Given the description of an element on the screen output the (x, y) to click on. 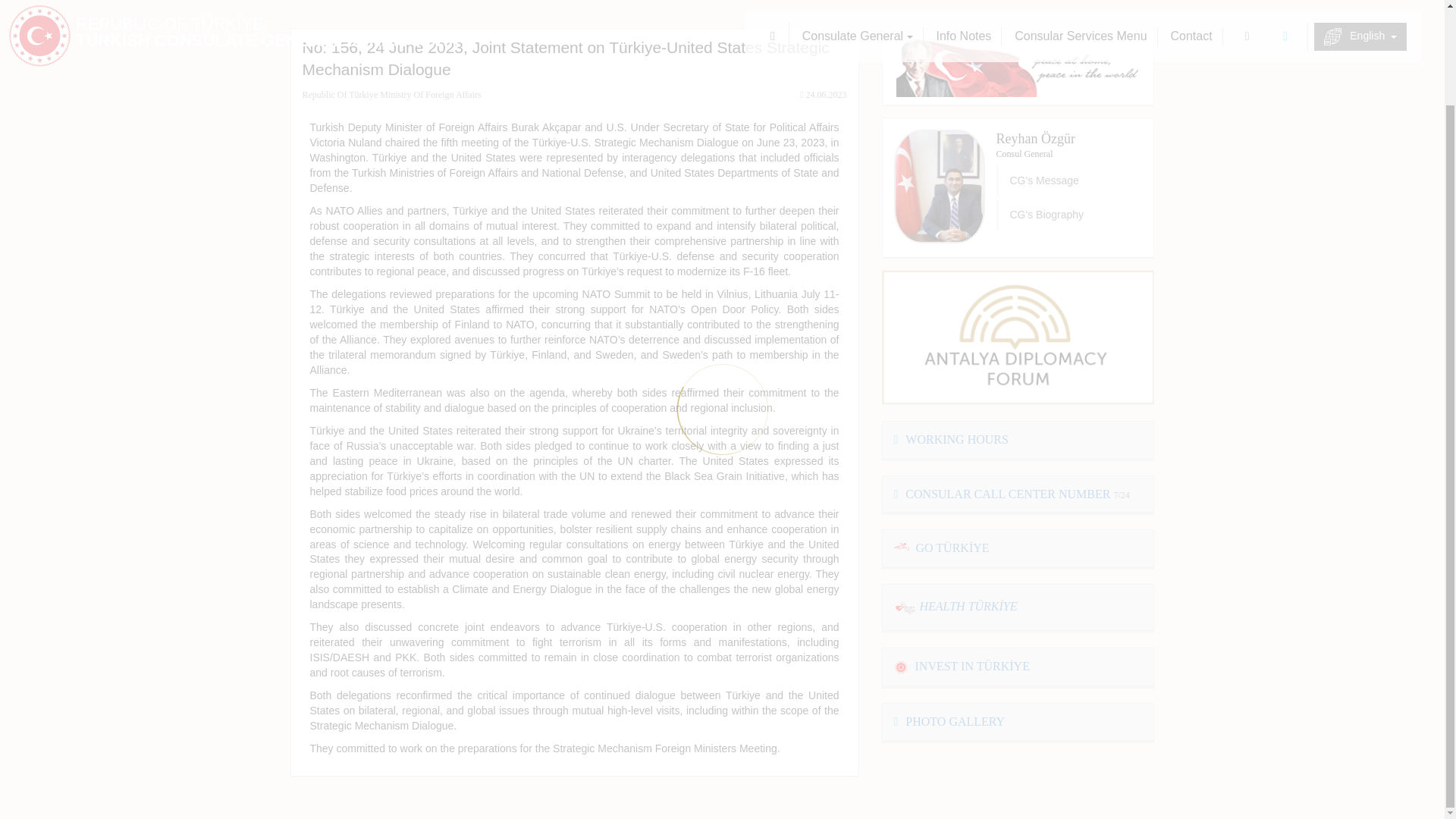
PHOTO GALLERY (948, 721)
CG's Biography (1068, 214)
CG's Message (1068, 181)
WORKING HOURS (950, 439)
